Given the description of an element on the screen output the (x, y) to click on. 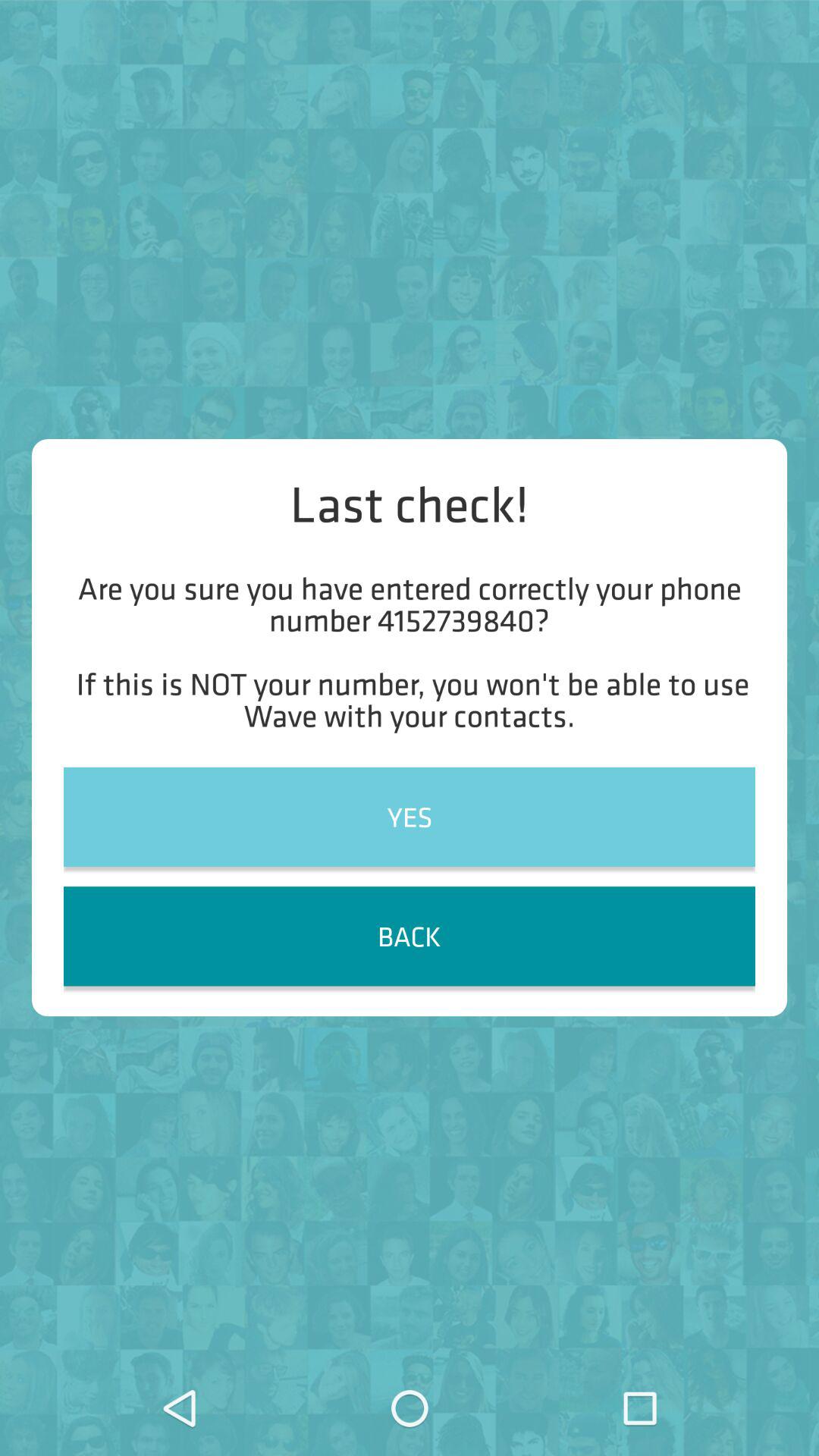
jump to the are you sure item (409, 651)
